Given the description of an element on the screen output the (x, y) to click on. 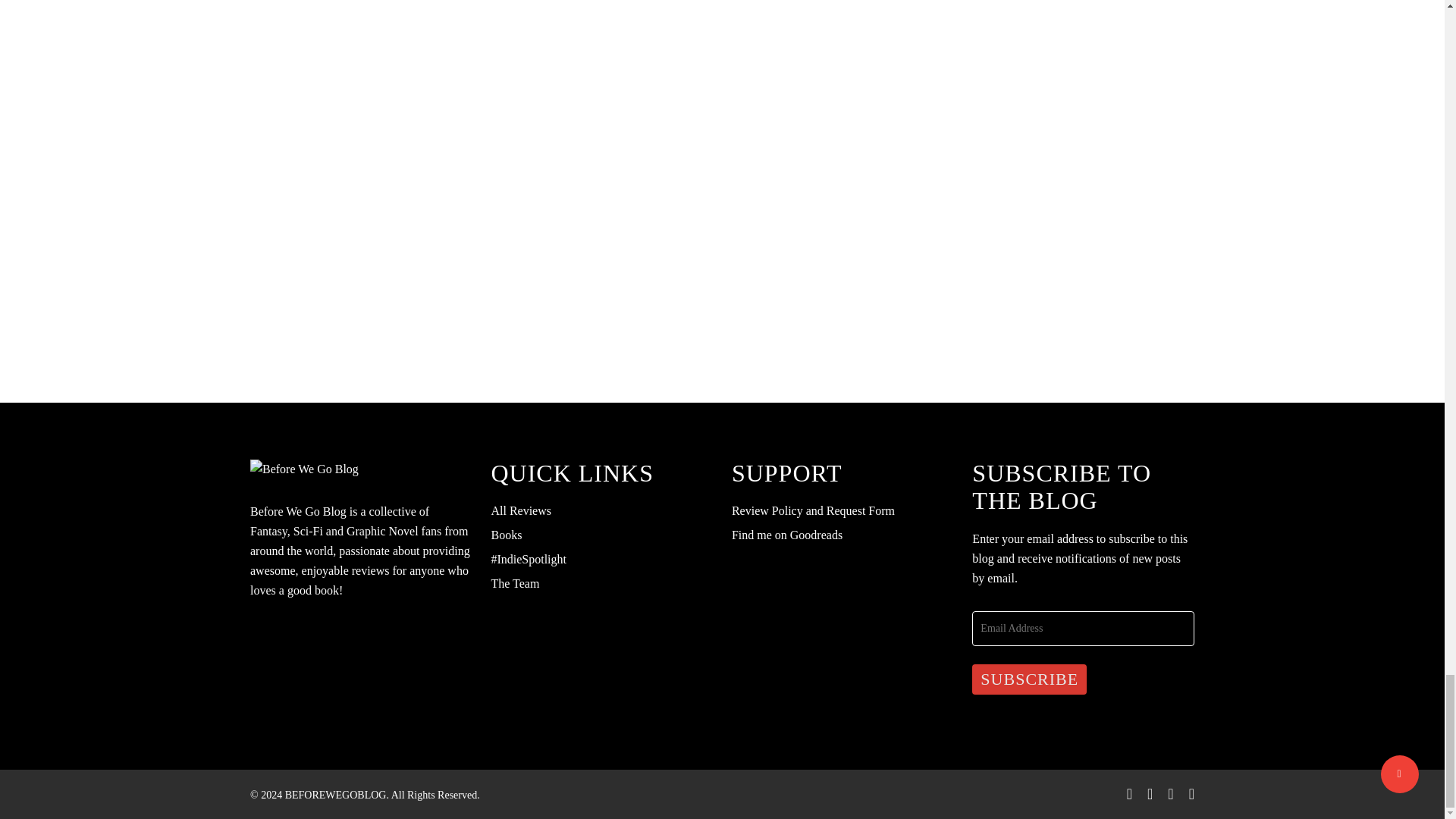
Subscribe (1029, 679)
